Given the description of an element on the screen output the (x, y) to click on. 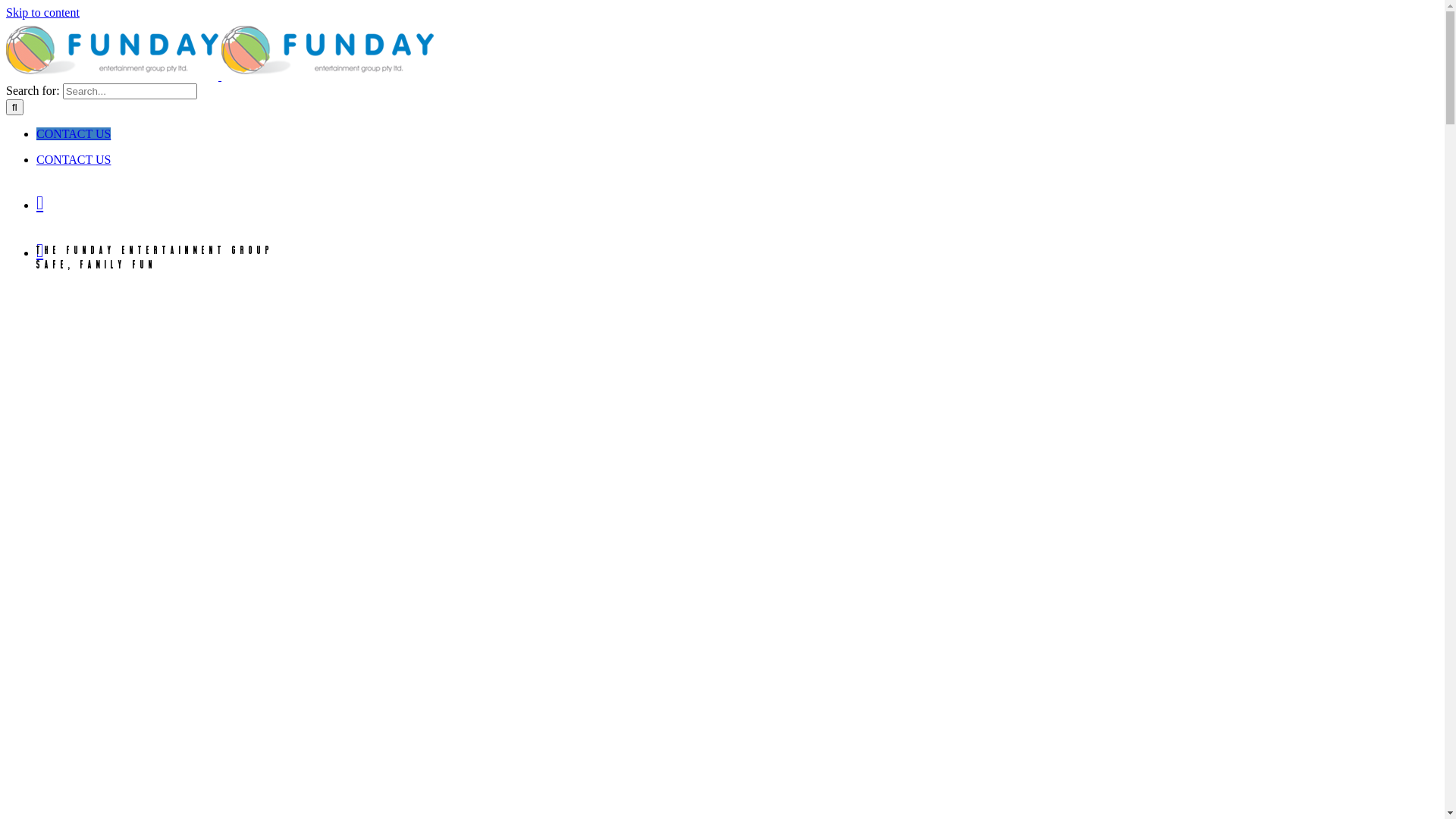
CONTACT US Element type: text (73, 159)
Skip to content Element type: text (42, 12)
CONTACT US Element type: text (73, 133)
